Given the description of an element on the screen output the (x, y) to click on. 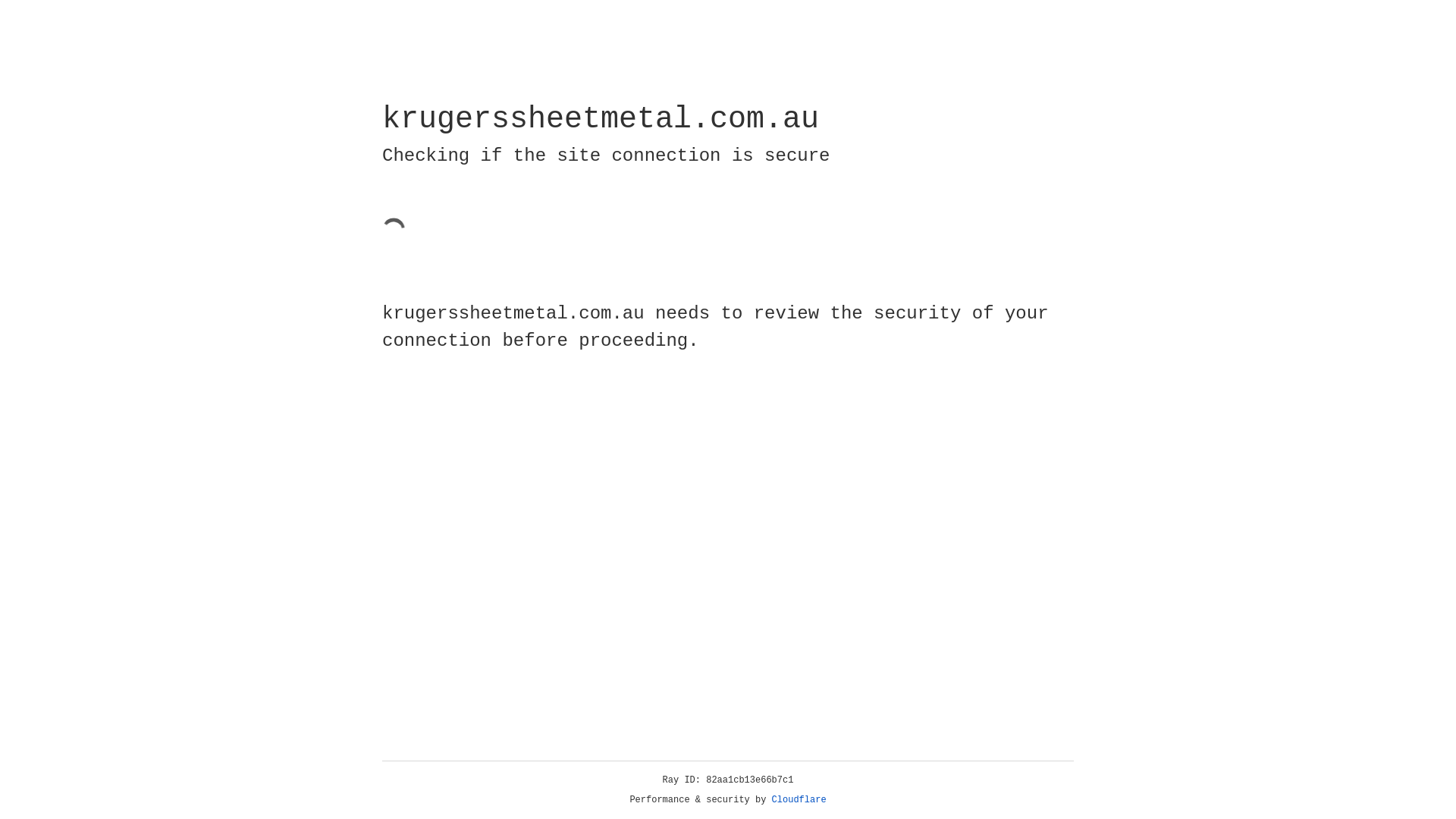
Cloudflare Element type: text (798, 799)
